Given the description of an element on the screen output the (x, y) to click on. 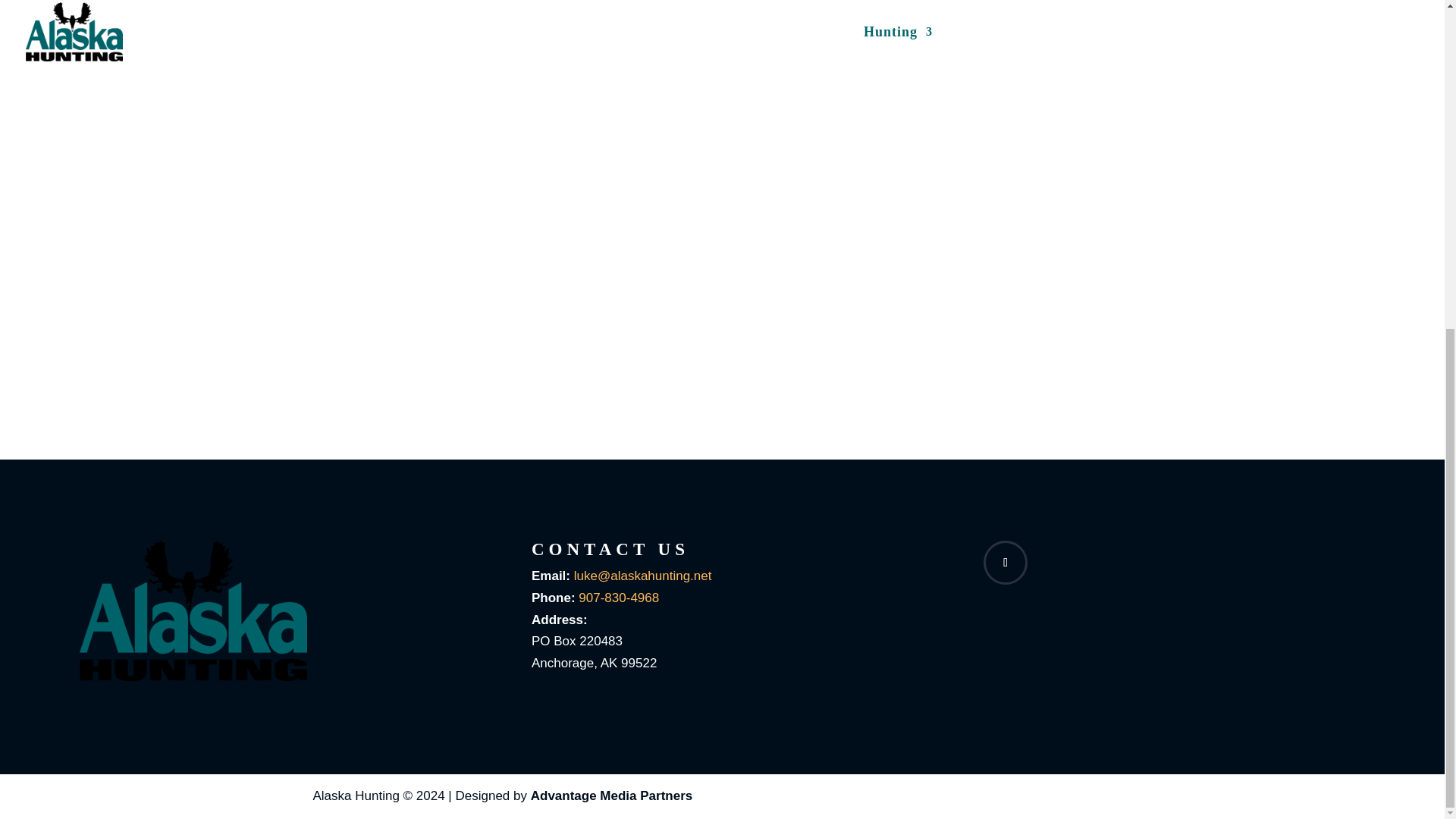
907-830-4968 (618, 597)
Reaching More Customers (612, 795)
Advantage Media Partners (612, 795)
Follow on Facebook (1005, 562)
